Given the description of an element on the screen output the (x, y) to click on. 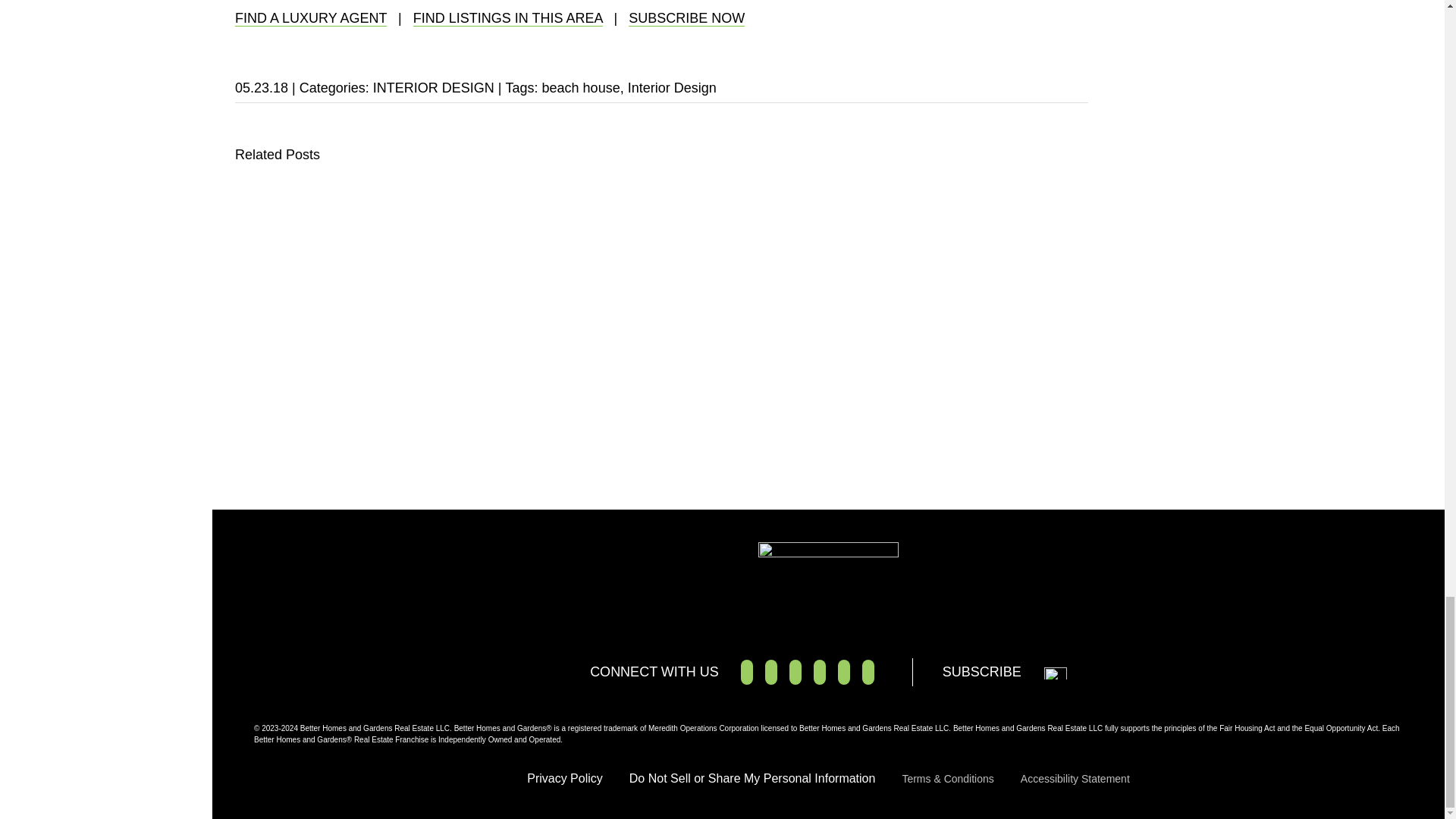
YouTube (795, 672)
Interior Design (671, 87)
INTERIOR DESIGN (433, 87)
Instagram (844, 672)
SUBSCRIBE NOW (686, 18)
Better Homes and Gardens Real Estate (828, 580)
FIND LISTINGS IN THIS AREA (507, 18)
Twitter (771, 672)
Pinterest (819, 672)
Facebook (746, 672)
beach house (580, 87)
FIND A LUXURY AGENT (310, 18)
